Given the description of an element on the screen output the (x, y) to click on. 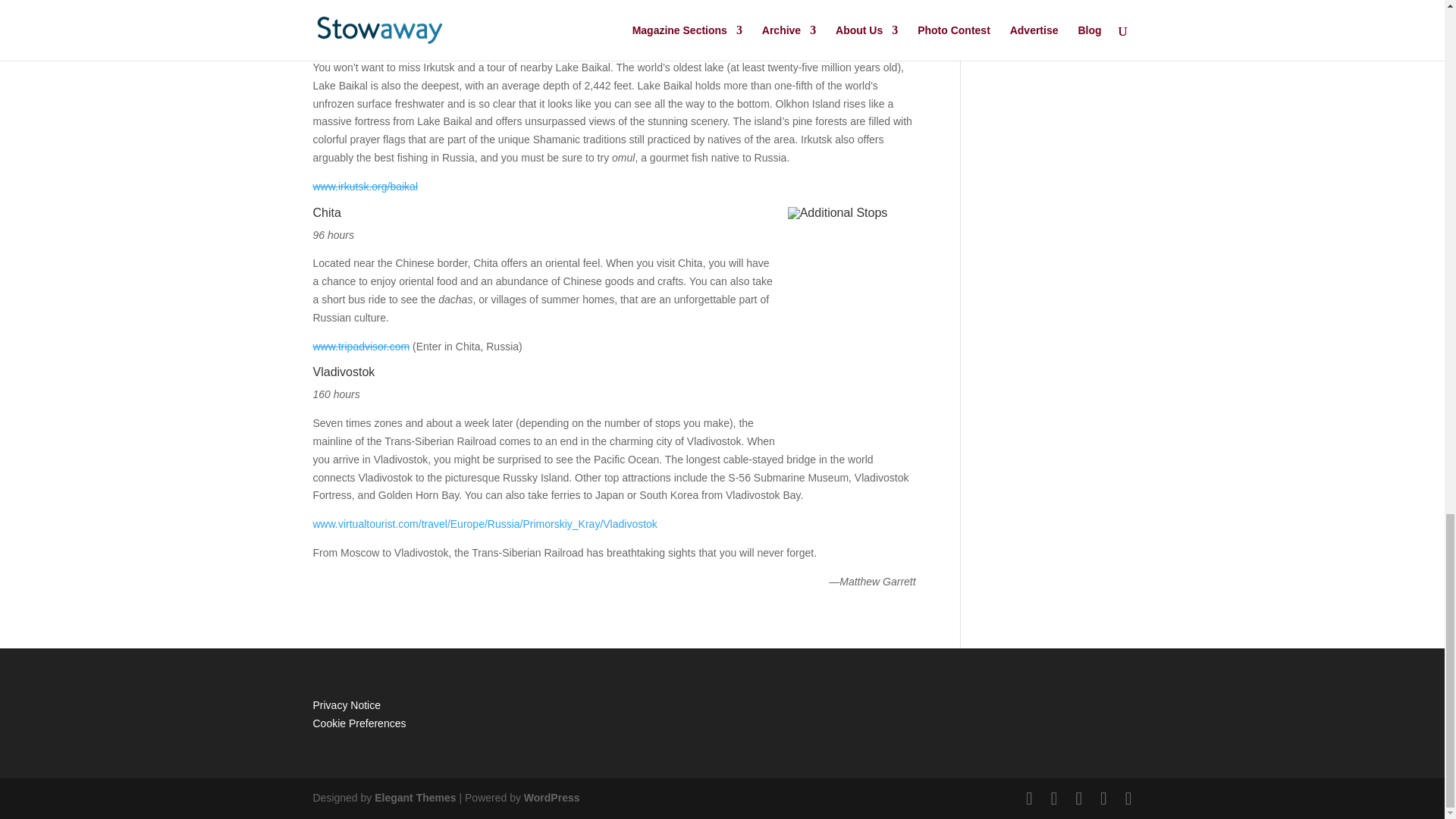
Premium WordPress Themes (414, 797)
